Given the description of an element on the screen output the (x, y) to click on. 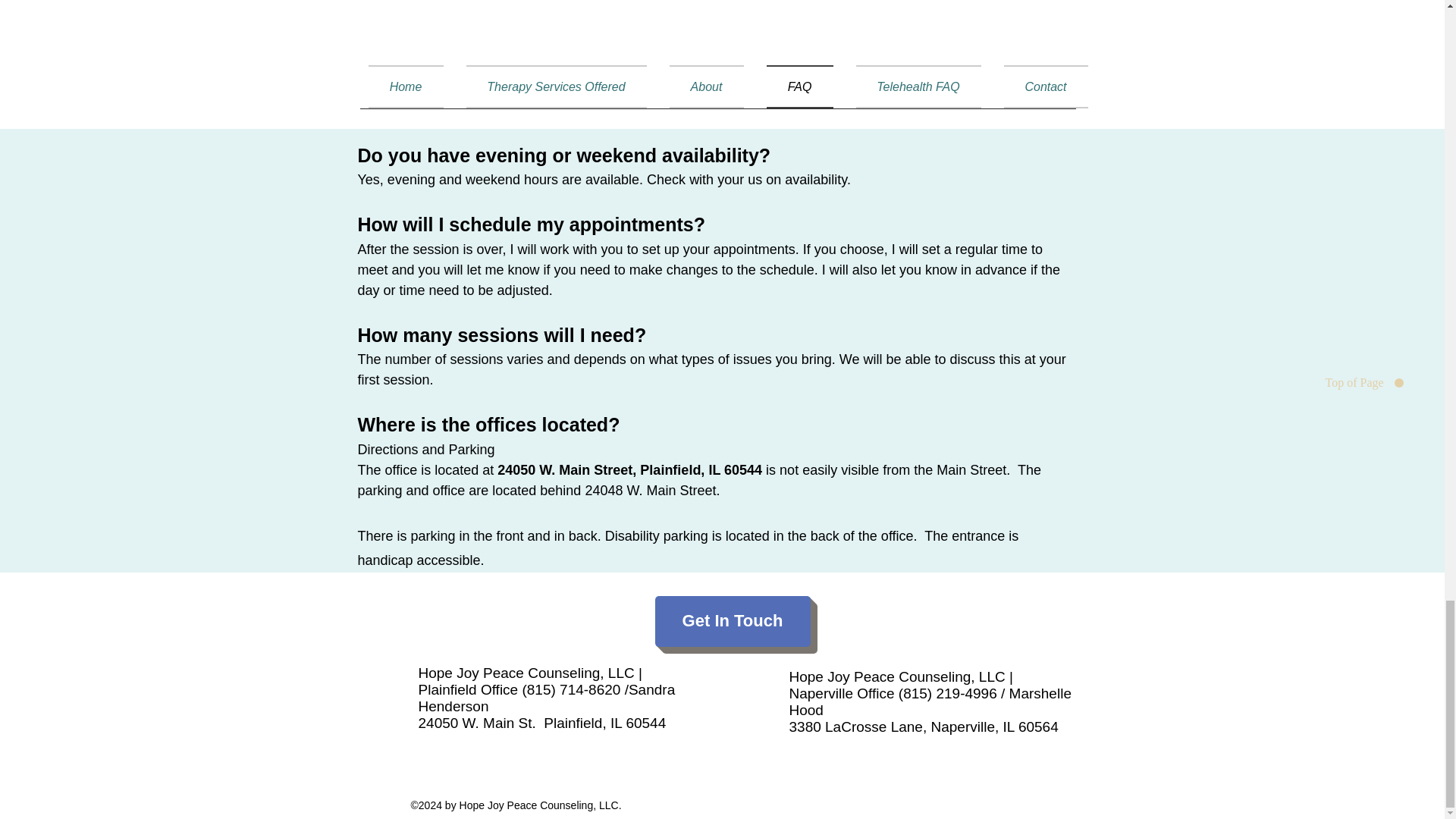
Get In Touch (732, 621)
